Given the description of an element on the screen output the (x, y) to click on. 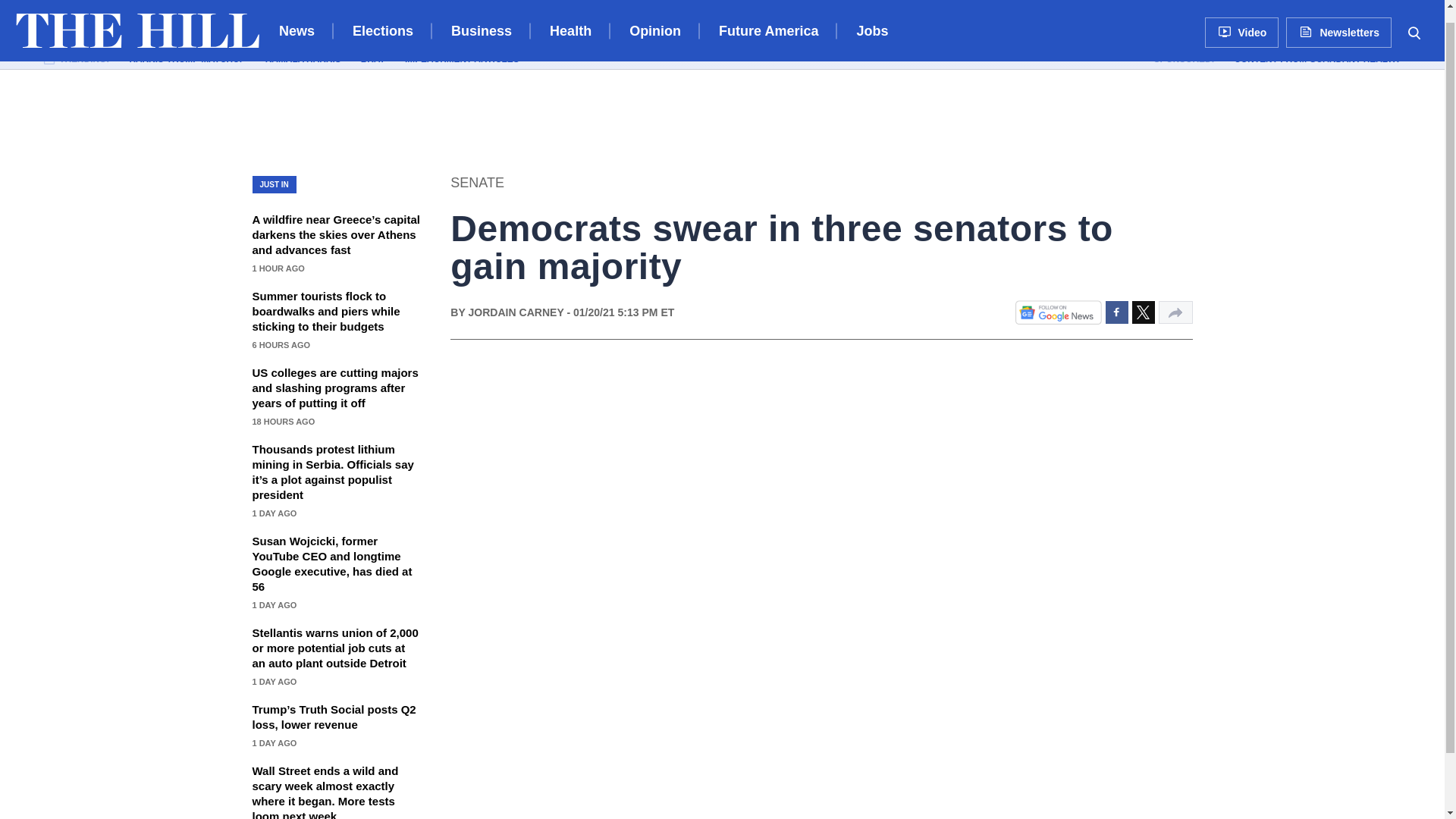
News (296, 18)
Search (1414, 18)
Business (481, 18)
Elections (382, 18)
Senate (476, 182)
